Given the description of an element on the screen output the (x, y) to click on. 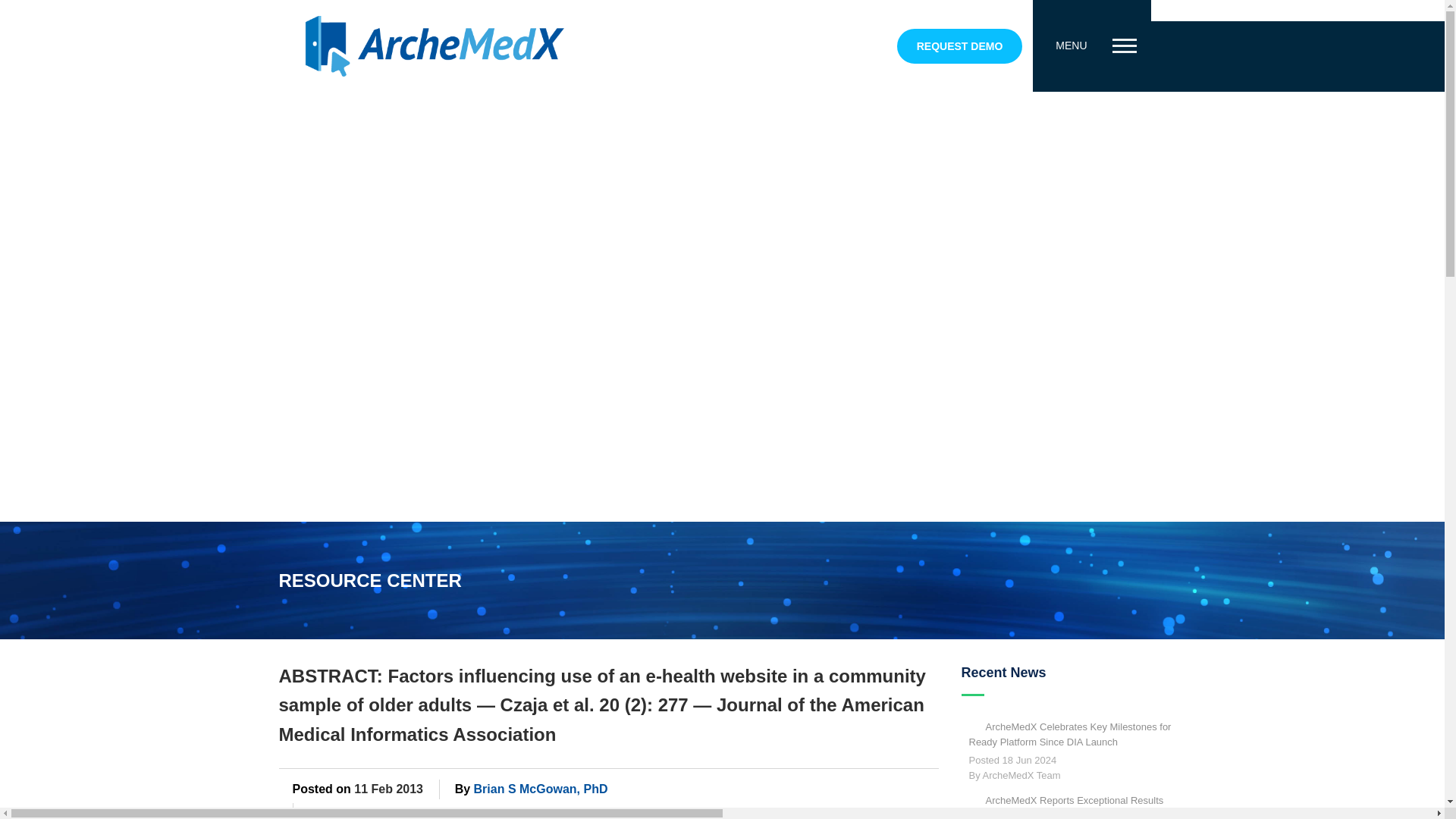
No comment (693, 813)
Resources (616, 812)
Patient Education (528, 812)
No comment (693, 813)
REQUEST DEMO (959, 45)
Online Learning (423, 812)
Posts by Brian S McGowan, PhD (541, 788)
Brian S McGowan, PhD (541, 788)
Abstract (346, 812)
